Given the description of an element on the screen output the (x, y) to click on. 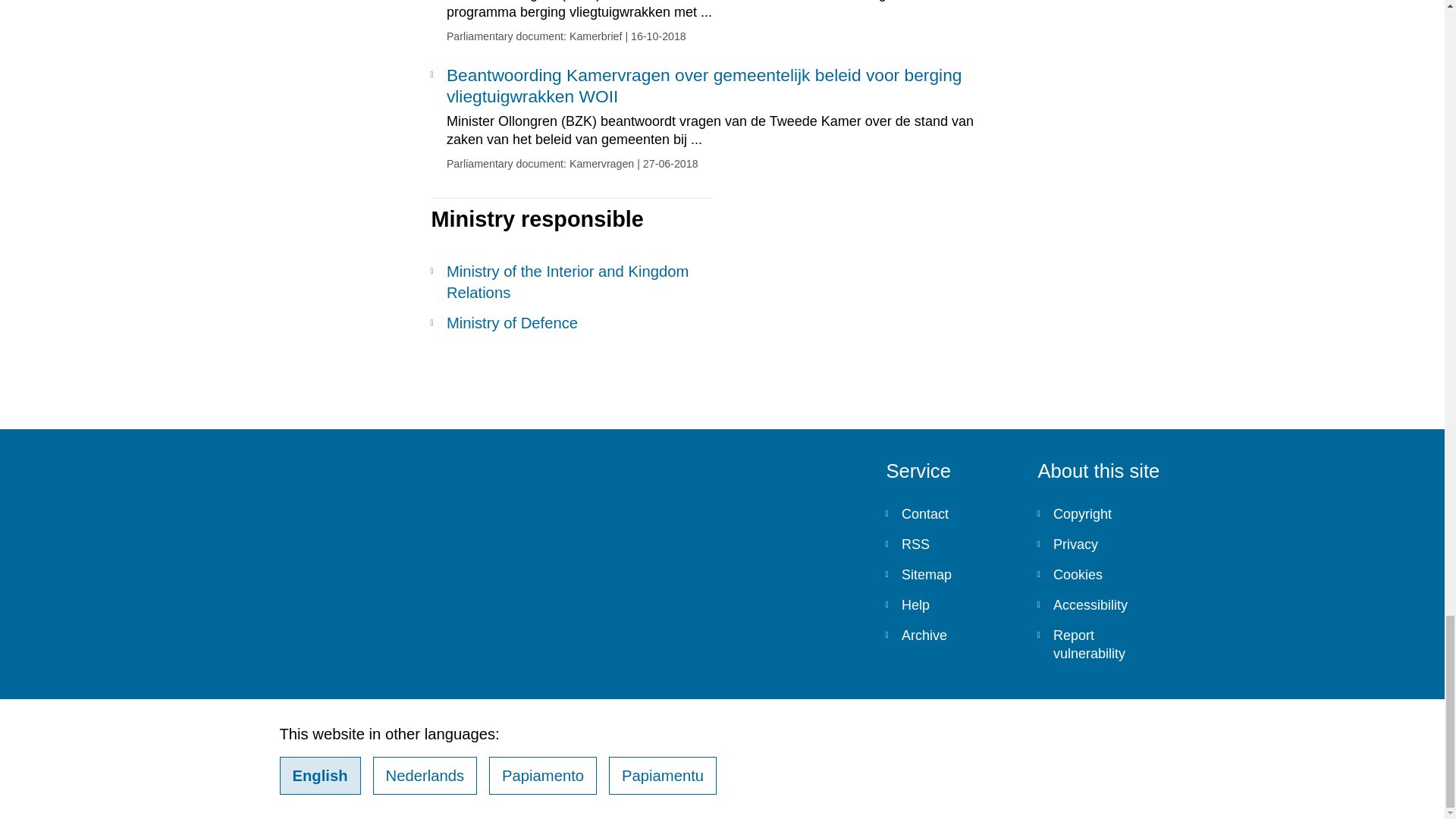
Archive (949, 634)
Contact (949, 513)
Cookies (1100, 574)
Sitemap (949, 574)
RSS (949, 544)
Report vulnerability (1100, 644)
Privacy (1100, 544)
Accessibility (1100, 604)
Help (949, 604)
Ministry of Defence (570, 322)
